Given the description of an element on the screen output the (x, y) to click on. 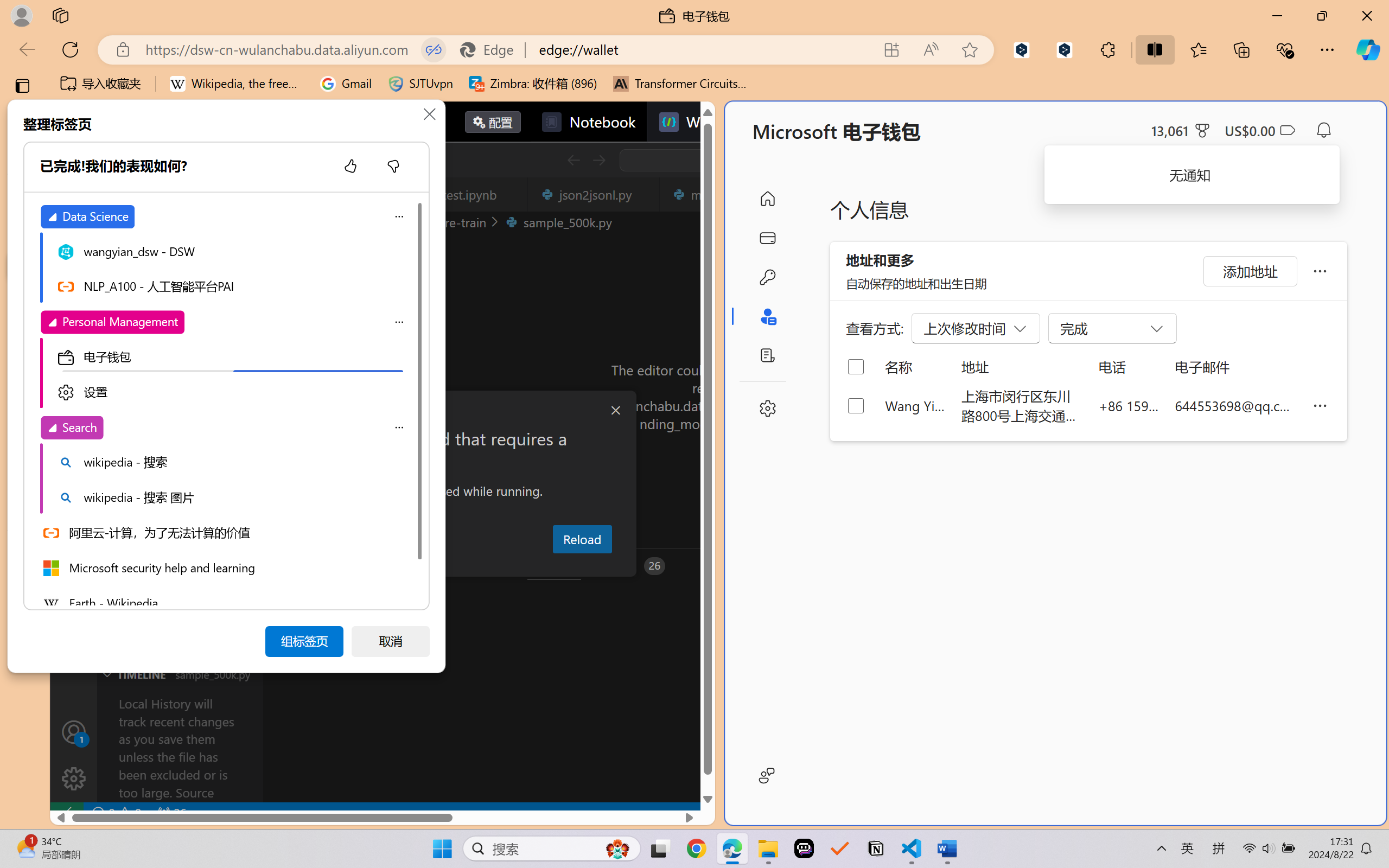
Close Dialog (615, 410)
Copilot (Ctrl+Shift+.) (1368, 49)
main.py (717, 194)
Go Forward (Alt+RightArrow) (598, 159)
